Given the description of an element on the screen output the (x, y) to click on. 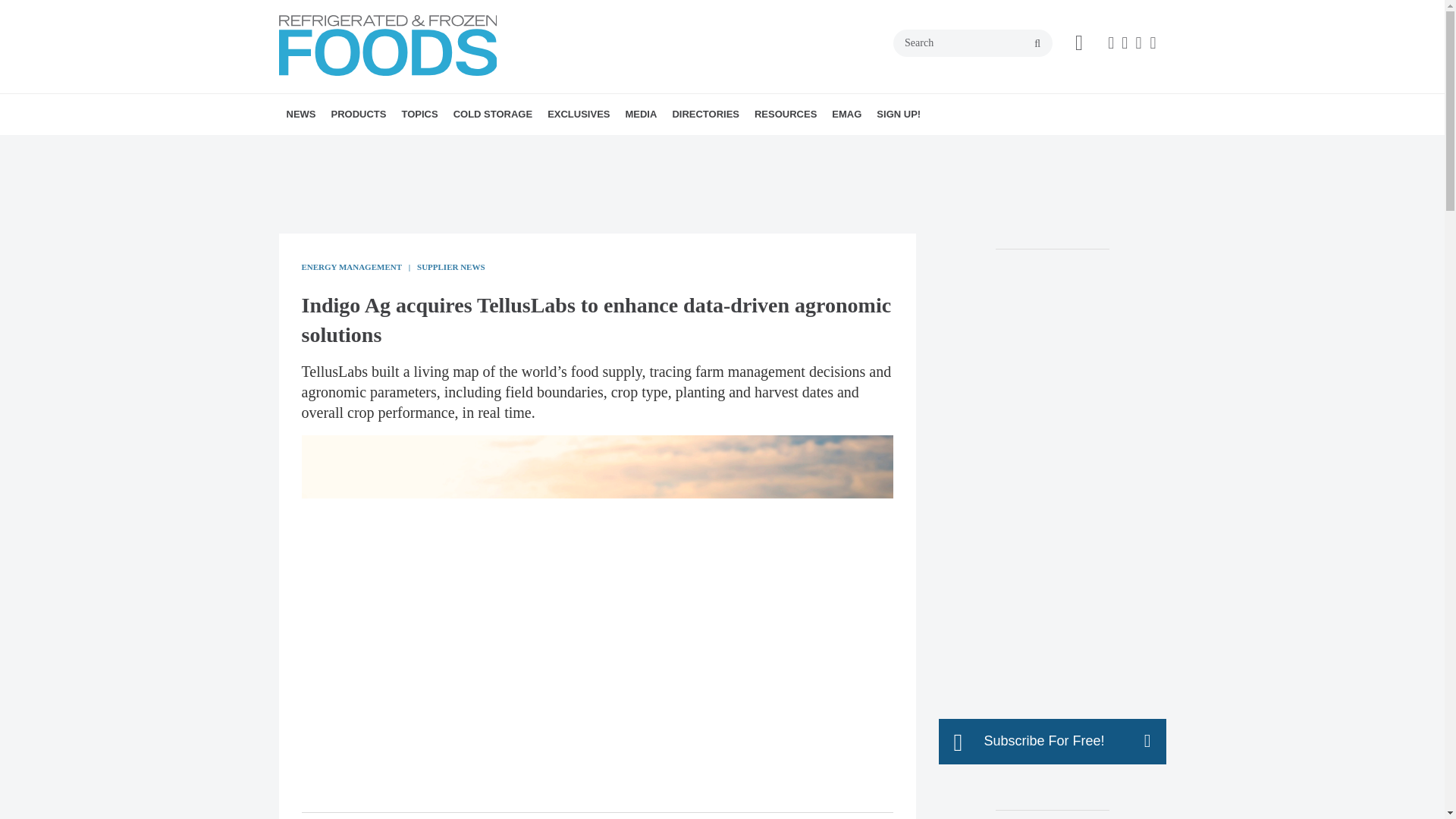
EDITOR'S BLOG (666, 147)
COLD STORAGE (492, 114)
EXCLUSIVES (578, 114)
NEWS (301, 114)
Search (972, 42)
INDUSTRY NEWS (373, 147)
FOOD SAFETY (501, 147)
SUPPLIER NEWS (386, 147)
TOP 150 FROZEN FOOD PROCESSORS (651, 156)
ENERGY MANAGEMENT (496, 147)
TECHNOLOGY SHOWCASE (391, 147)
STATE OF THE INDUSTRY (663, 147)
Search (972, 42)
TOPICS (419, 114)
MEDIA (640, 114)
